Given the description of an element on the screen output the (x, y) to click on. 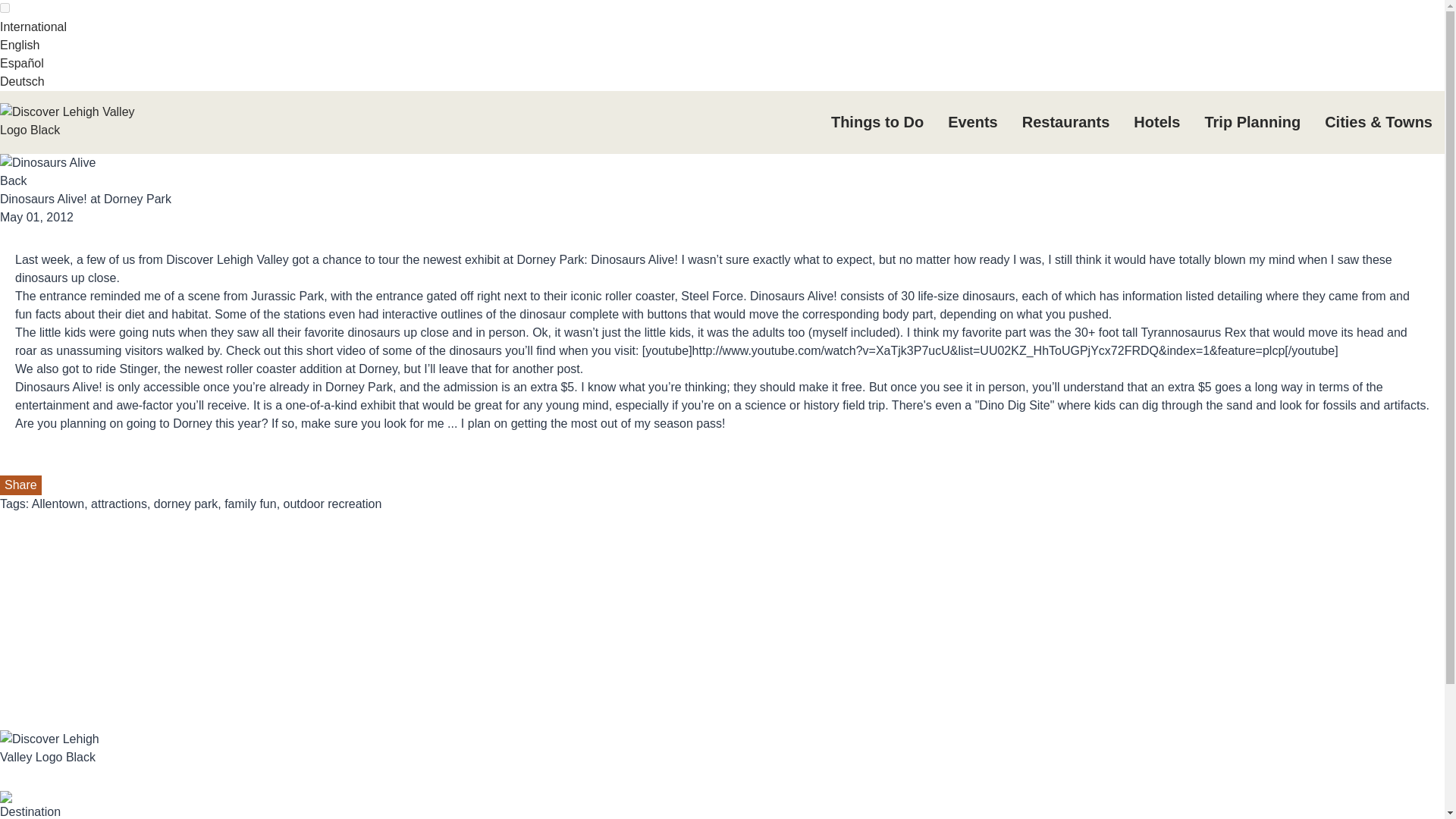
English (19, 44)
Things to Do (877, 122)
Hotels (1156, 122)
Restaurants (1066, 122)
Deutsch (22, 81)
on (5, 8)
Events (973, 122)
Trip Planning (1252, 122)
